Given the description of an element on the screen output the (x, y) to click on. 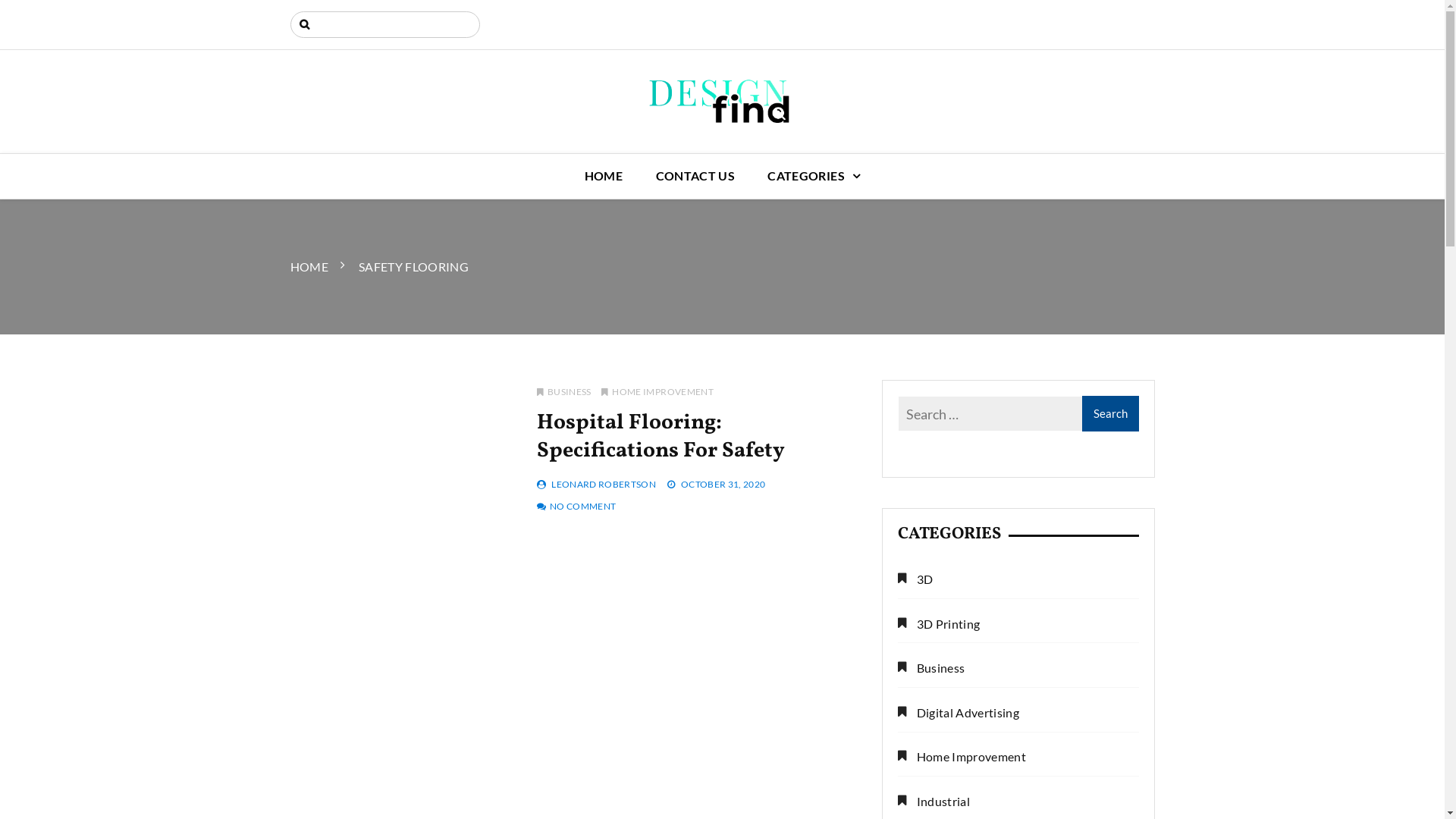
CONTACT US Element type: text (695, 175)
NO COMMENT Element type: text (582, 505)
Digital Advertising Element type: text (958, 713)
HOME IMPROVEMENT Element type: text (657, 391)
Search Element type: text (1109, 413)
Business Element type: text (931, 668)
Industrial Element type: text (933, 801)
HOME Element type: text (603, 175)
3D Element type: text (915, 579)
LEONARD ROBERTSON Element type: text (603, 483)
Home Improvement Element type: text (961, 757)
3D Printing Element type: text (938, 624)
HOME Element type: text (308, 266)
Hospital Flooring: Specifications For Safety Element type: text (660, 435)
OCTOBER 31, 2020 Element type: text (722, 483)
Search Element type: text (20, 13)
BUSINESS Element type: text (563, 391)
CATEGORIES Element type: text (813, 175)
